Given the description of an element on the screen output the (x, y) to click on. 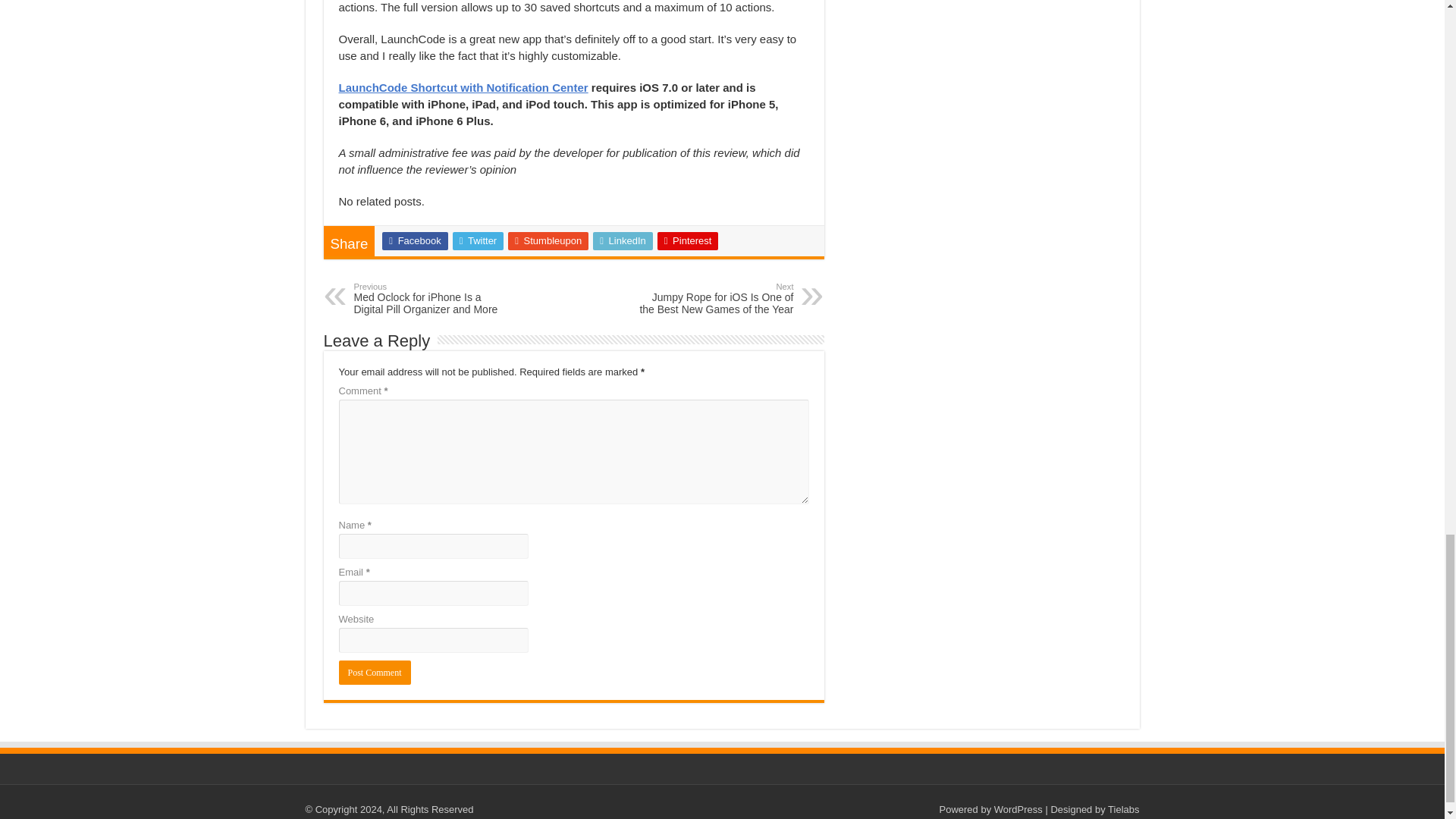
Post Comment (373, 672)
Pinterest (688, 240)
Facebook (413, 240)
LaunchCode Shortcut with Notification Center (462, 87)
LinkedIn (622, 240)
Stumbleupon (548, 240)
Twitter (477, 240)
